Given the description of an element on the screen output the (x, y) to click on. 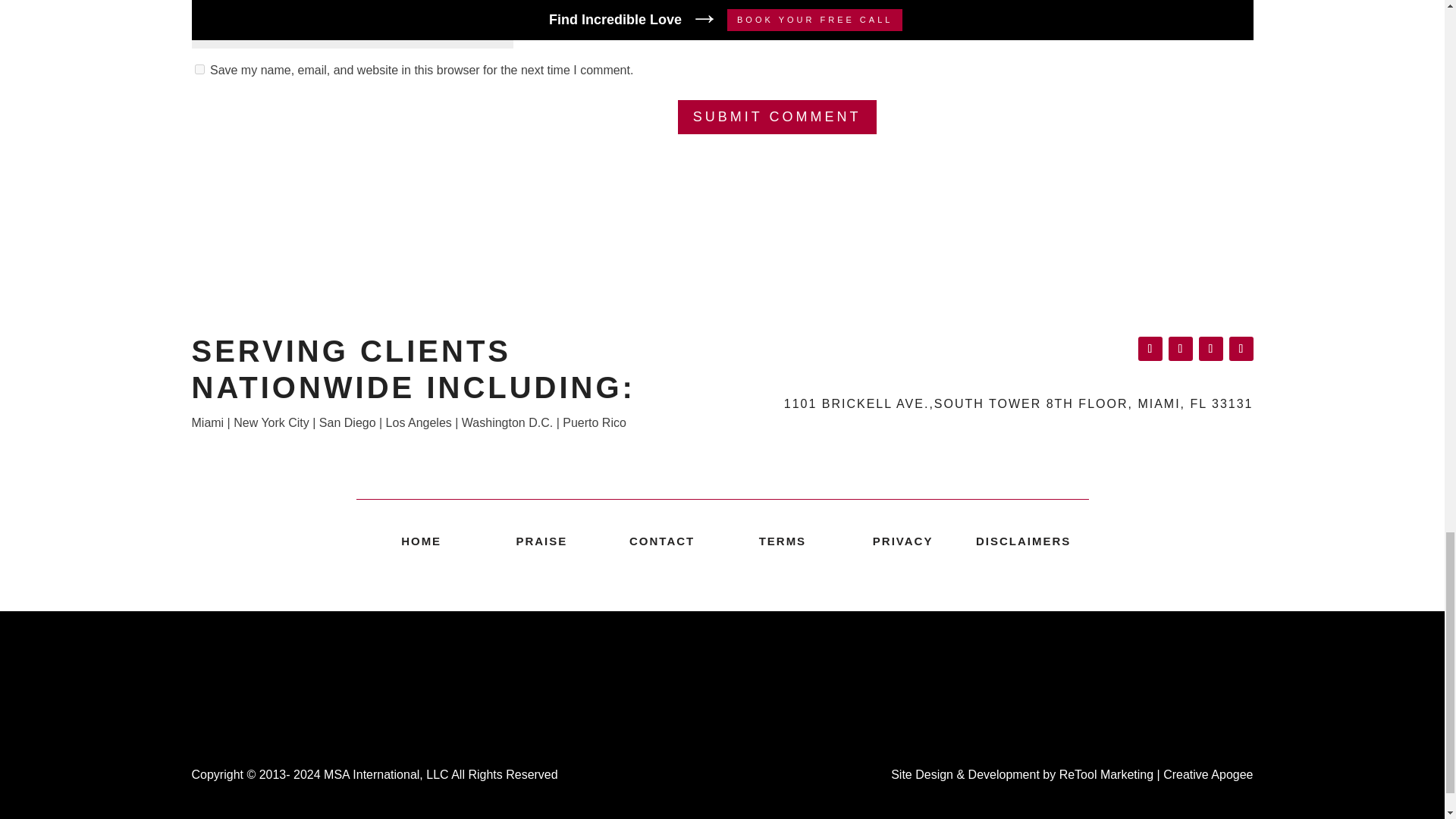
yes (198, 69)
Follow on Instagram (1210, 348)
Submit Comment (777, 116)
Follow on Facebook (1149, 348)
Follow on LinkedIn (1179, 348)
Follow on Youtube (1240, 348)
